Given the description of an element on the screen output the (x, y) to click on. 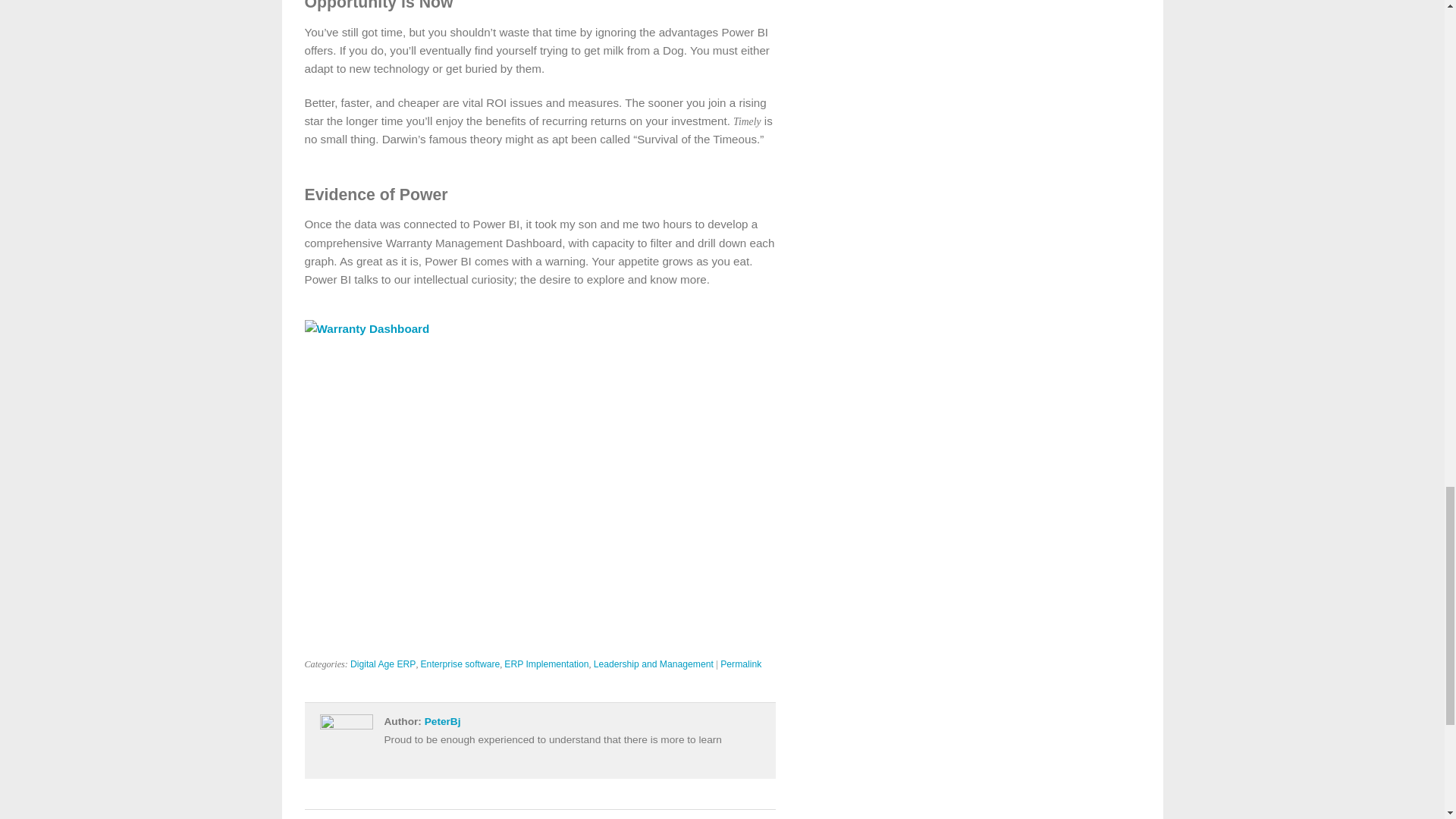
Leadership and Management (653, 664)
PeterBj (443, 721)
Digital Age ERP (383, 664)
ERP Implementation (545, 664)
Enterprise software (460, 664)
Permalink (740, 664)
PeterBj (443, 721)
